Given the description of an element on the screen output the (x, y) to click on. 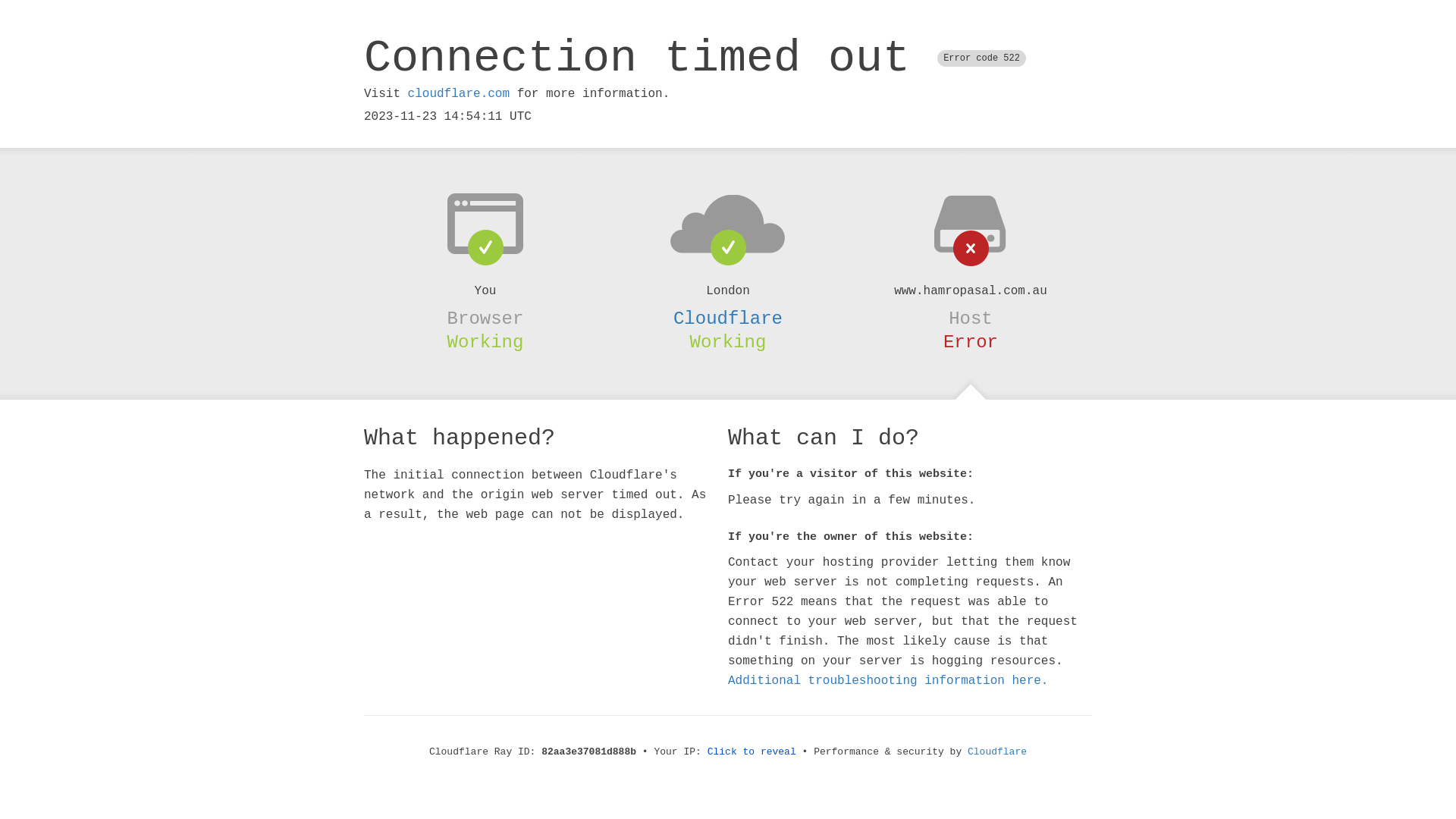
Click to reveal Element type: text (751, 751)
cloudflare.com Element type: text (458, 93)
Cloudflare Element type: text (727, 318)
Additional troubleshooting information here. Element type: text (888, 680)
Cloudflare Element type: text (996, 751)
